Given the description of an element on the screen output the (x, y) to click on. 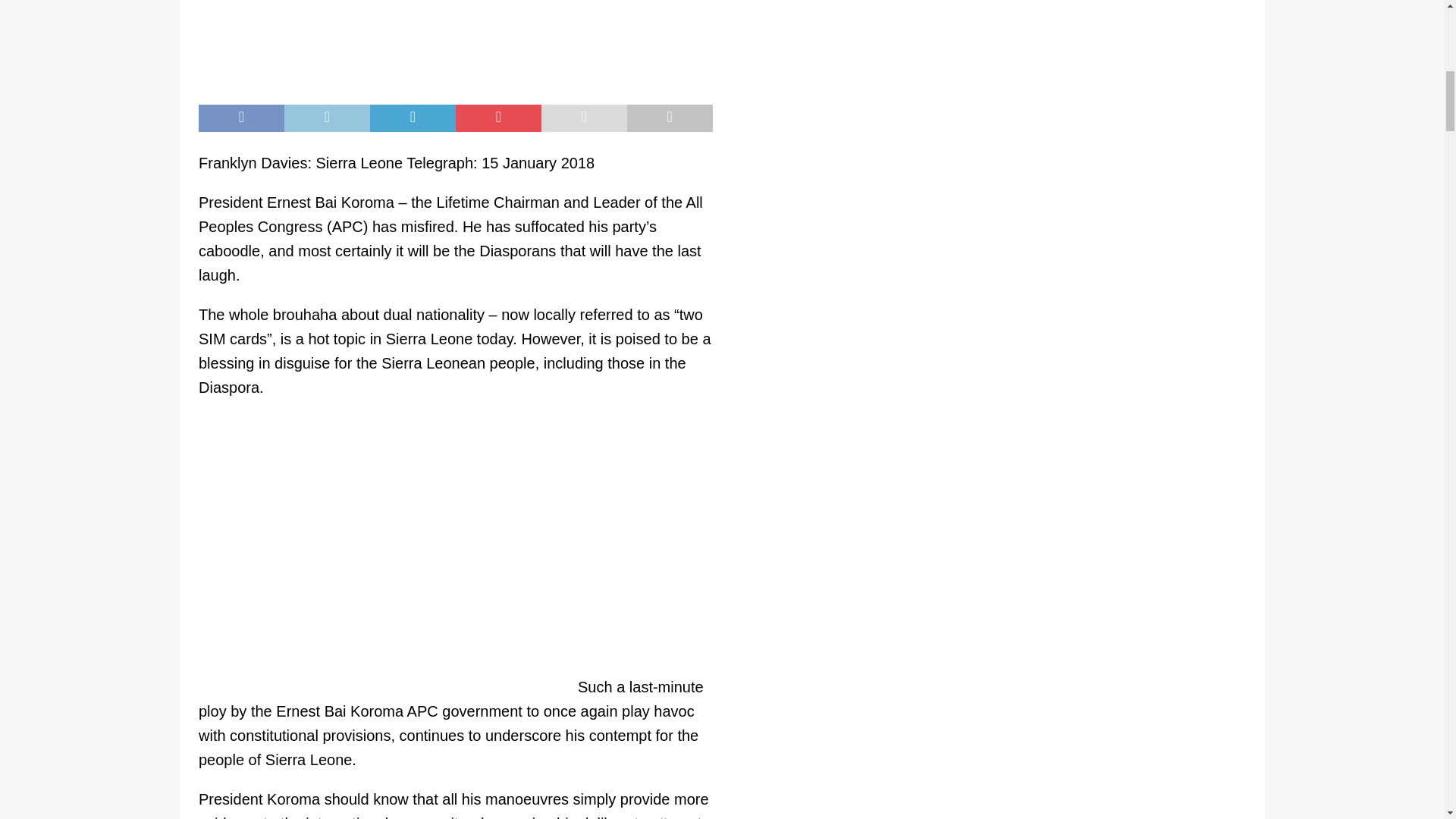
president koroma failed (455, 44)
